Given the description of an element on the screen output the (x, y) to click on. 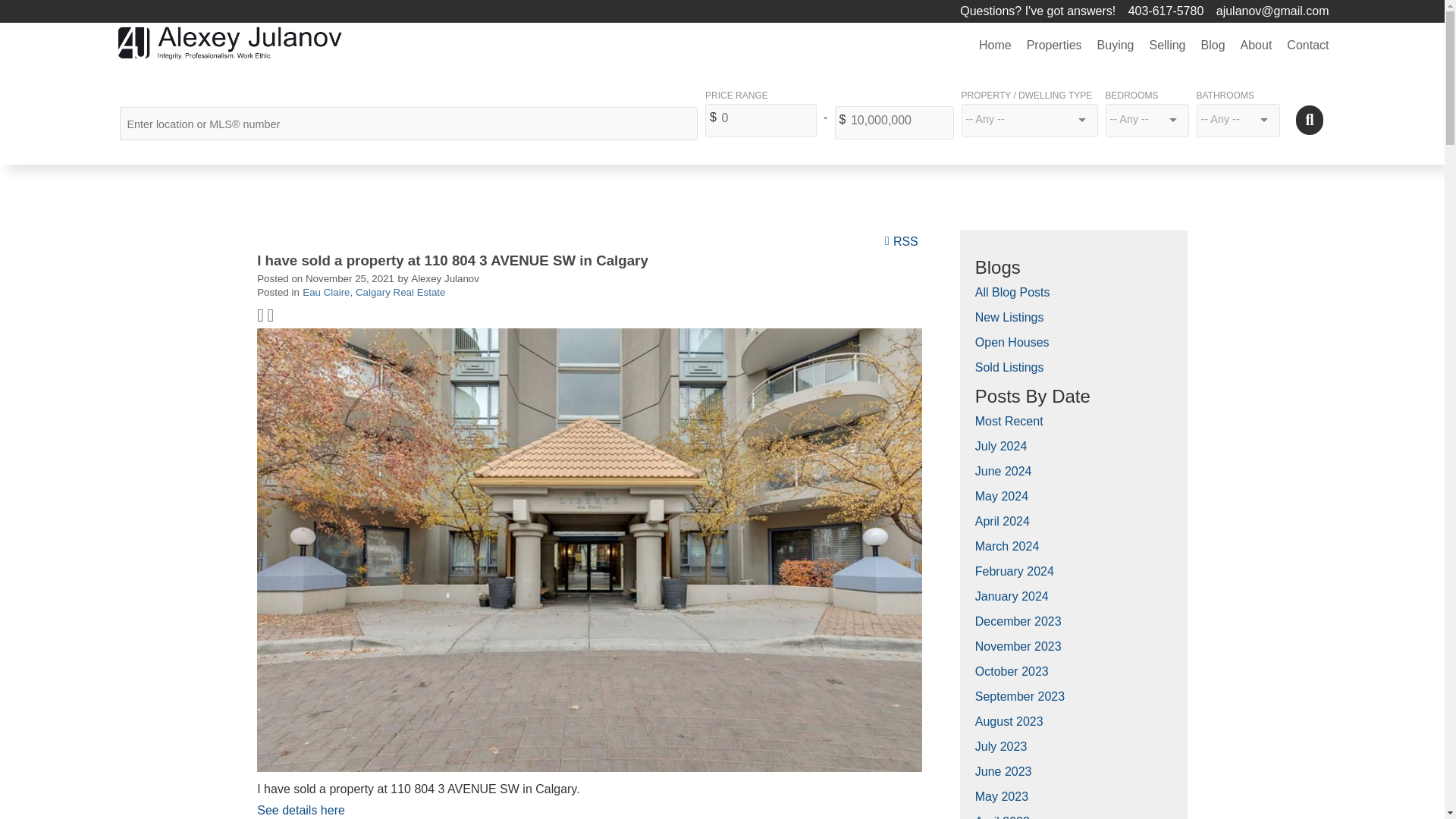
403-617-5780 (1170, 10)
New Listings (1009, 317)
Properties (1054, 45)
Selling (1166, 45)
April 2024 (1002, 521)
Most Recent (1009, 420)
RSS (903, 240)
All Blog Posts (1012, 291)
June 2024 (1003, 471)
Blog (1213, 45)
About (1256, 45)
Eau Claire, Calgary Real Estate (373, 292)
Sold Listings (1009, 367)
Buying (1115, 45)
March 2024 (1007, 545)
